Given the description of an element on the screen output the (x, y) to click on. 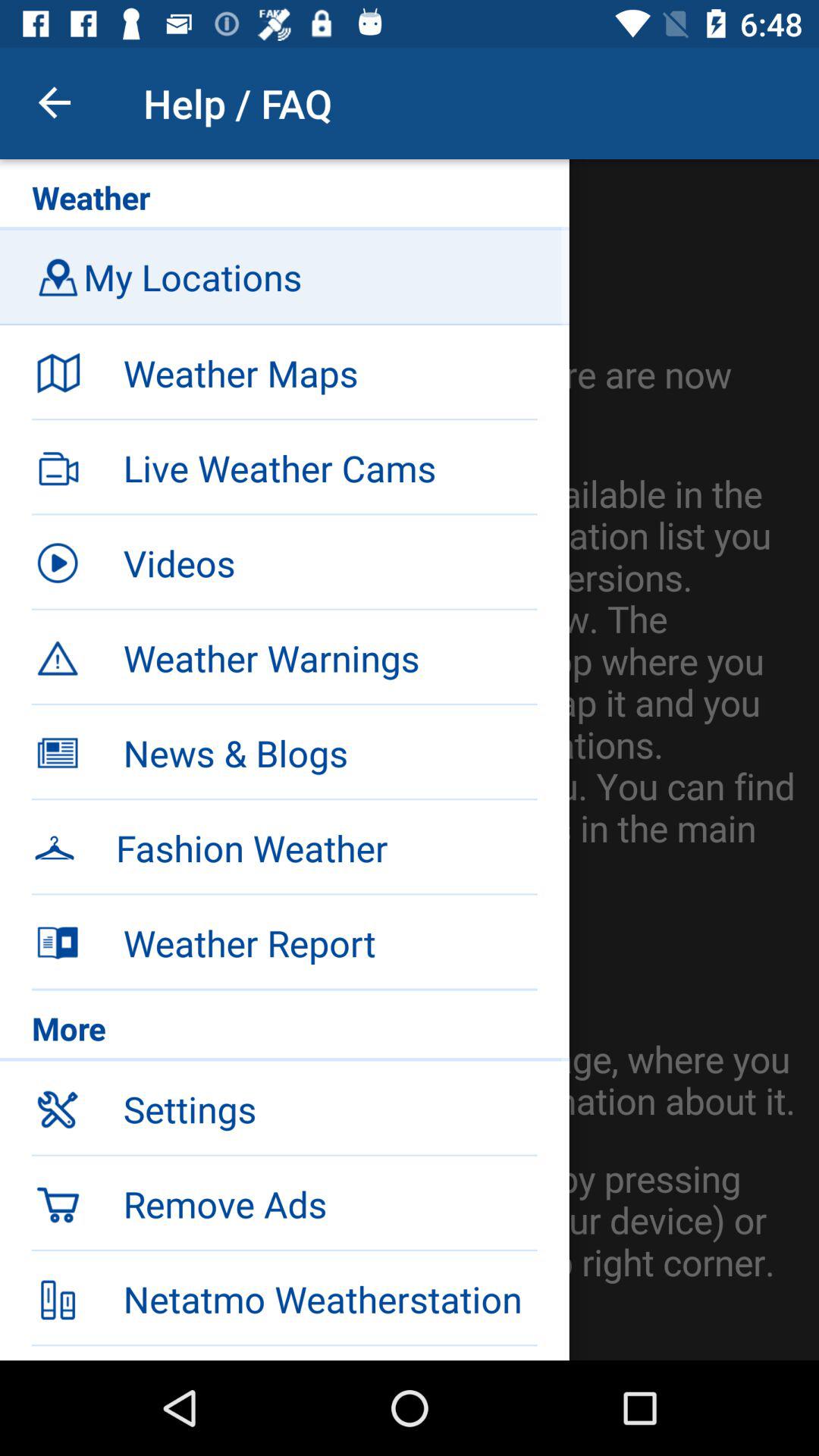
open item below the remove ads icon (284, 1296)
